Given the description of an element on the screen output the (x, y) to click on. 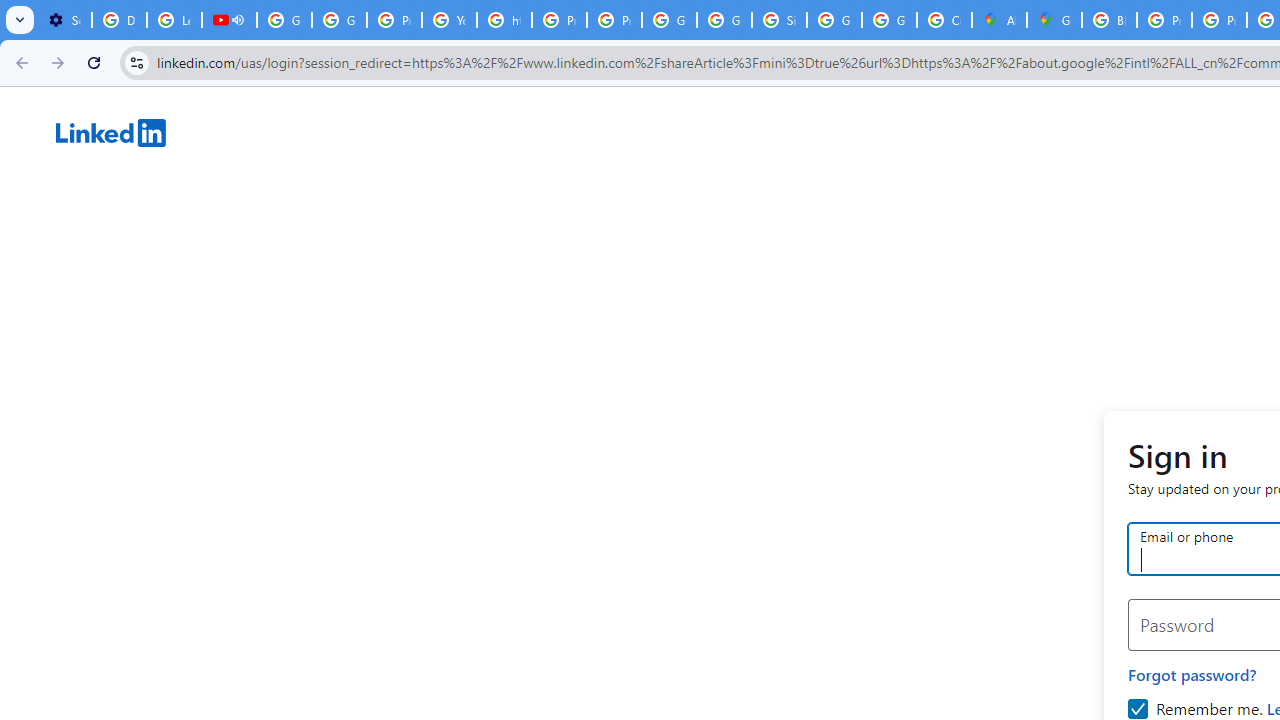
Privacy Help Center - Policies Help (1218, 20)
Blogger Policies and Guidelines - Transparency Center (1108, 20)
Privacy Help Center - Policies Help (559, 20)
Google Maps (1053, 20)
Delete photos & videos - Computer - Google Photos Help (119, 20)
AutomationID: linkedin-logo (111, 132)
